Given the description of an element on the screen output the (x, y) to click on. 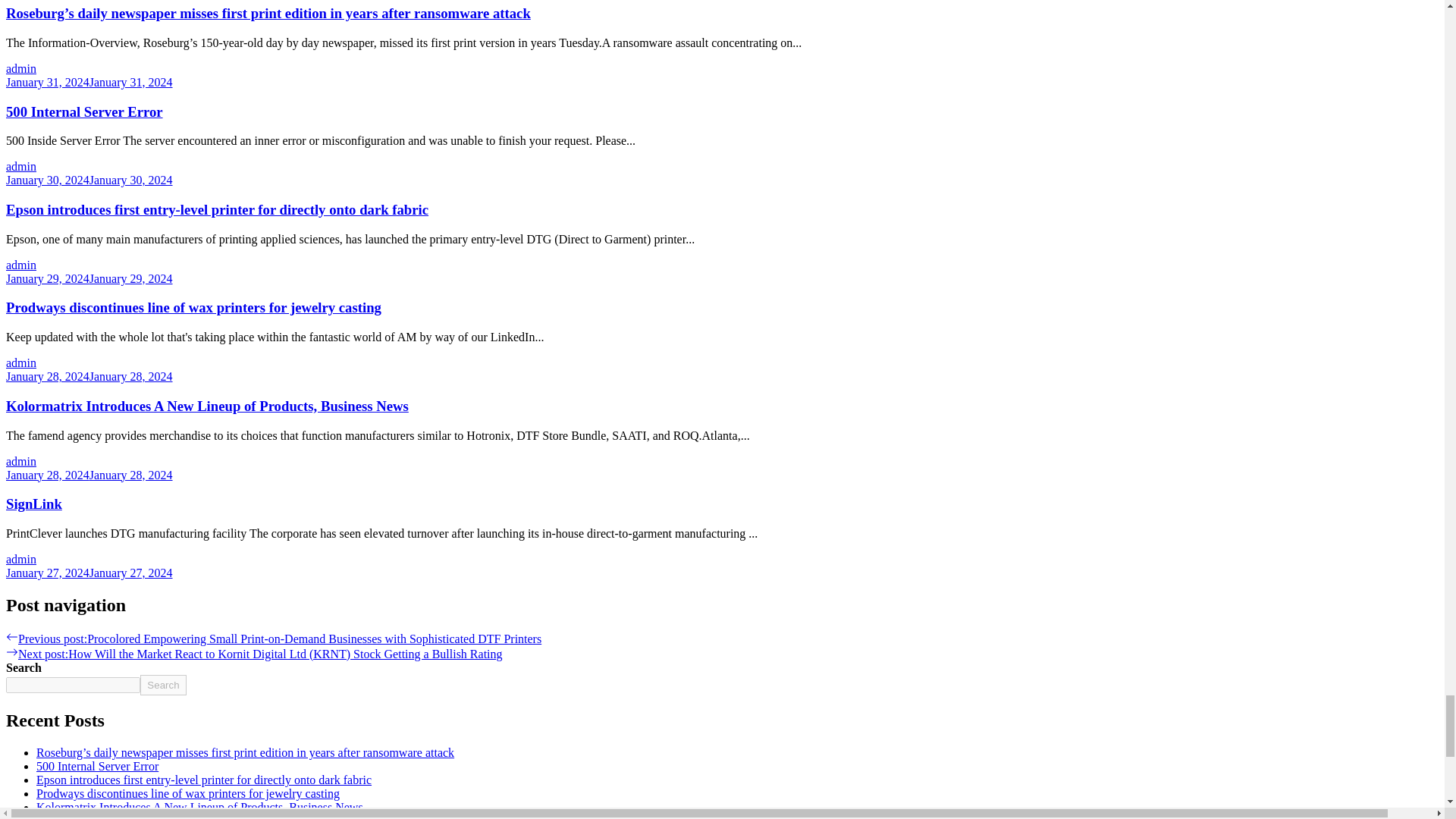
January 28, 2024January 28, 2024 (89, 376)
admin (20, 461)
admin (20, 165)
January 29, 2024January 29, 2024 (89, 278)
SignLink (33, 503)
admin (20, 558)
500 Internal Server Error (84, 111)
January 27, 2024January 27, 2024 (89, 572)
